Given the description of an element on the screen output the (x, y) to click on. 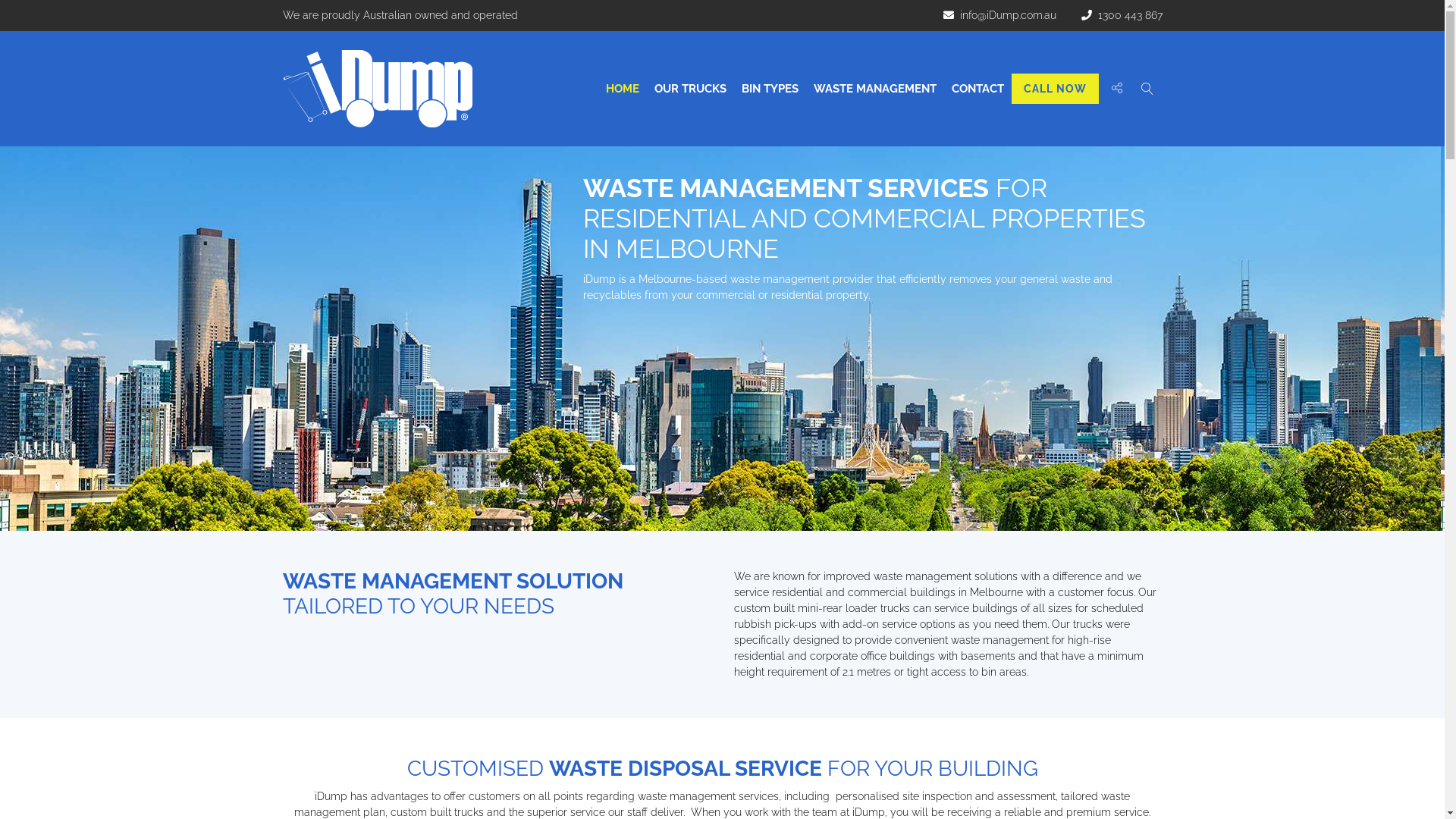
info@iDump.com.au Element type: text (999, 15)
WASTE MANAGEMENT Element type: text (874, 88)
BIN TYPES Element type: text (770, 88)
iDump Element type: hover (376, 88)
We are proudly Australian owned and operated Element type: text (405, 15)
CALL NOW Element type: text (1054, 87)
OUR TRUCKS Element type: text (689, 88)
CONTACT Element type: text (976, 88)
HOME Element type: text (621, 88)
